Given the description of an element on the screen output the (x, y) to click on. 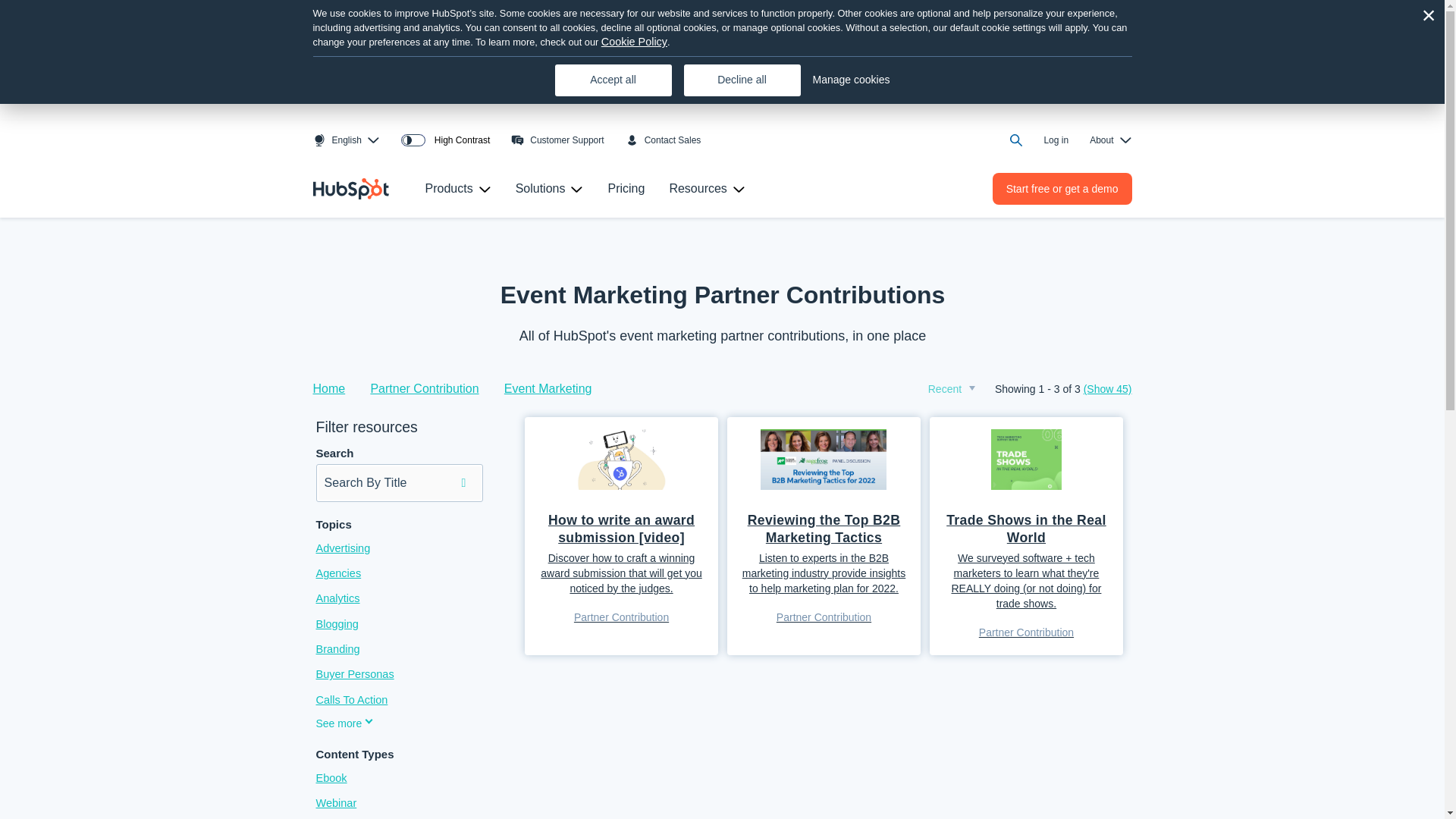
Select a language (373, 140)
Contact Sales (663, 140)
Home (339, 388)
Products (484, 189)
Partner Contribution (434, 388)
High Contrast (445, 139)
English (337, 140)
Event Marketing (547, 388)
Customer Support (557, 140)
About (1101, 140)
Log in (1055, 140)
About (1124, 140)
